Given the description of an element on the screen output the (x, y) to click on. 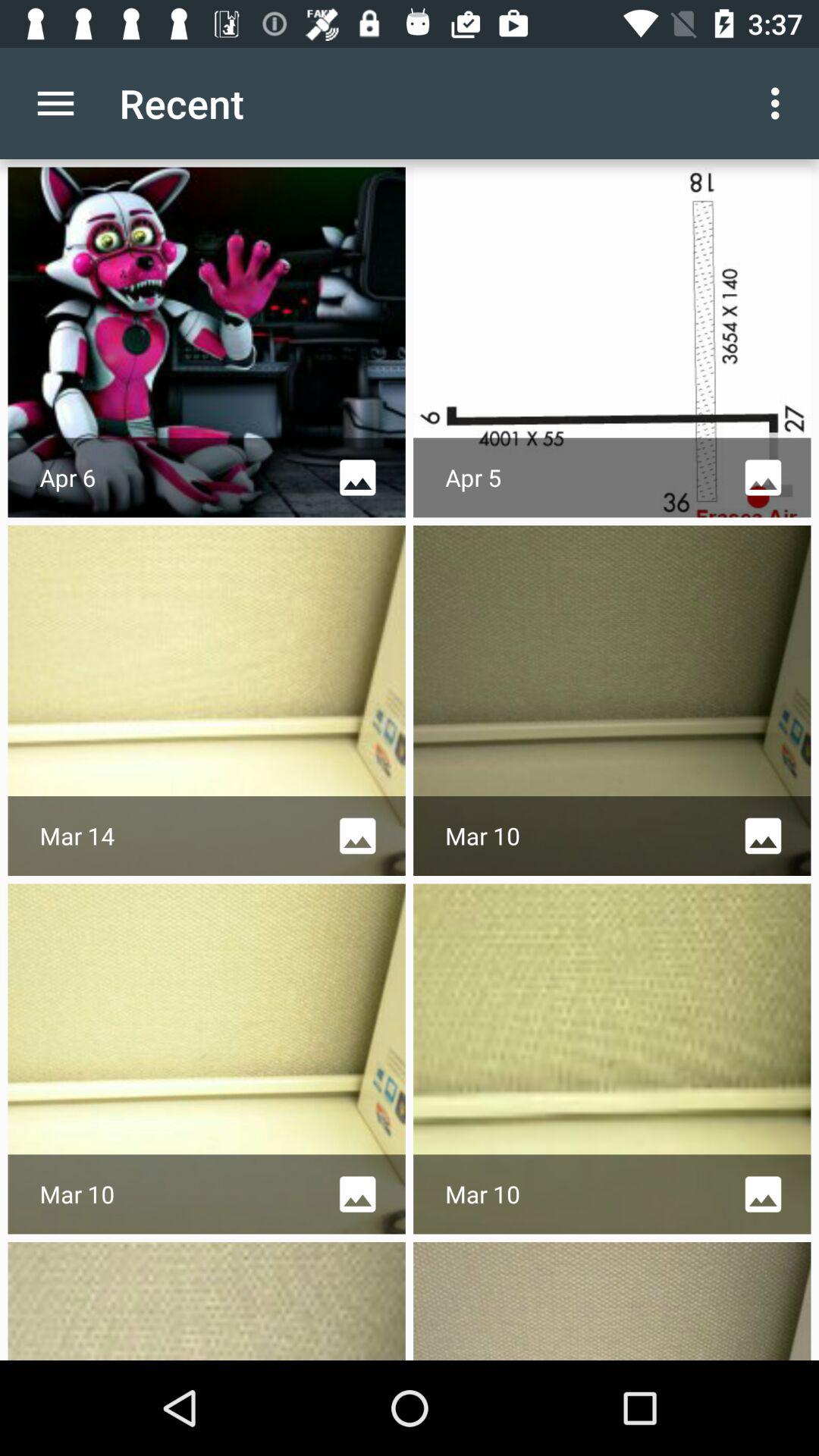
choose the item next to recent app (55, 103)
